Given the description of an element on the screen output the (x, y) to click on. 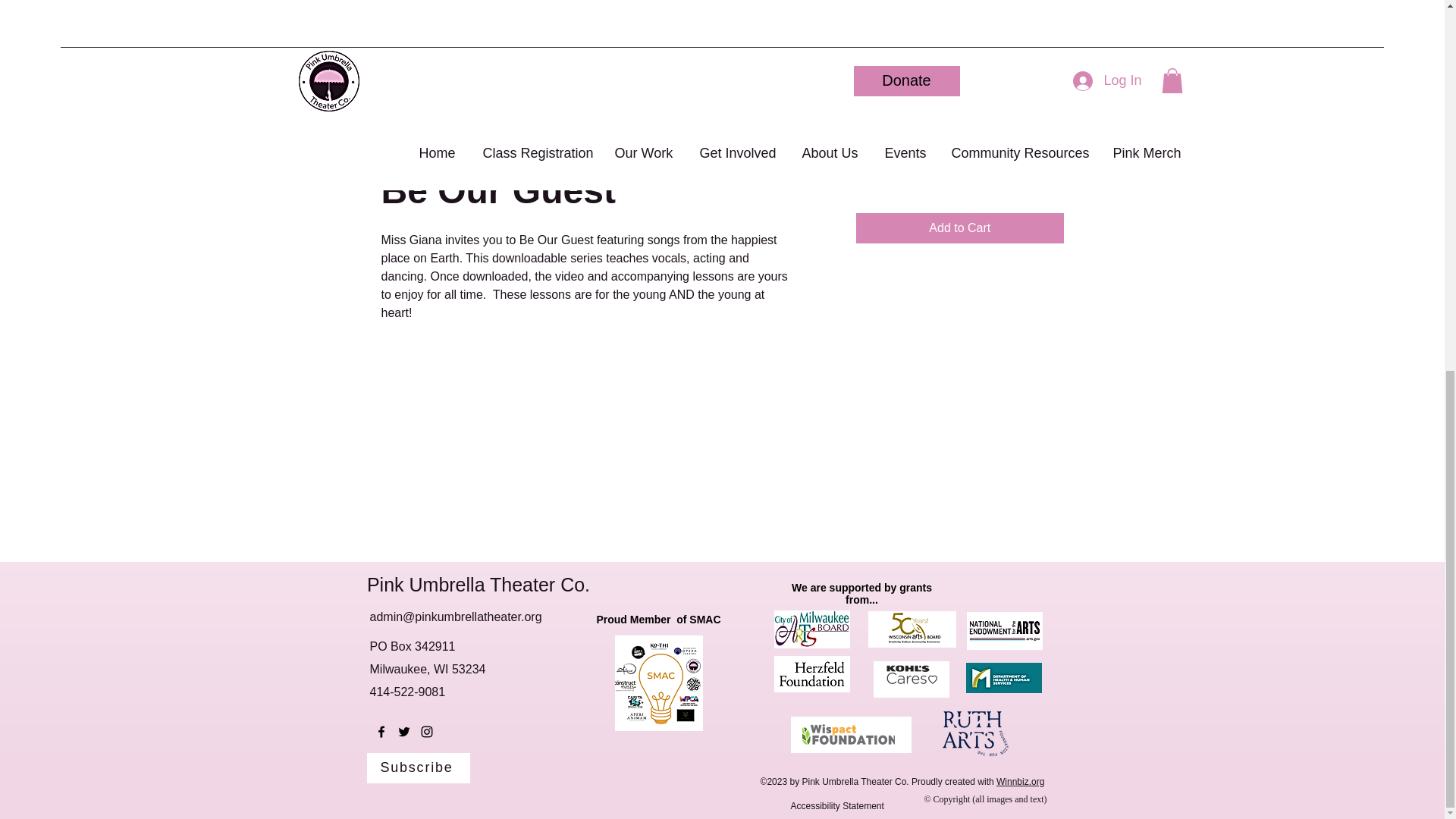
Accessibility Statement (836, 805)
Winnbiz.org (1019, 781)
Subscribe (418, 767)
SMAC lightbulb image.jpg (657, 683)
Add to Cart (959, 227)
Pink Umbrella Theater Co. (477, 584)
